Given the description of an element on the screen output the (x, y) to click on. 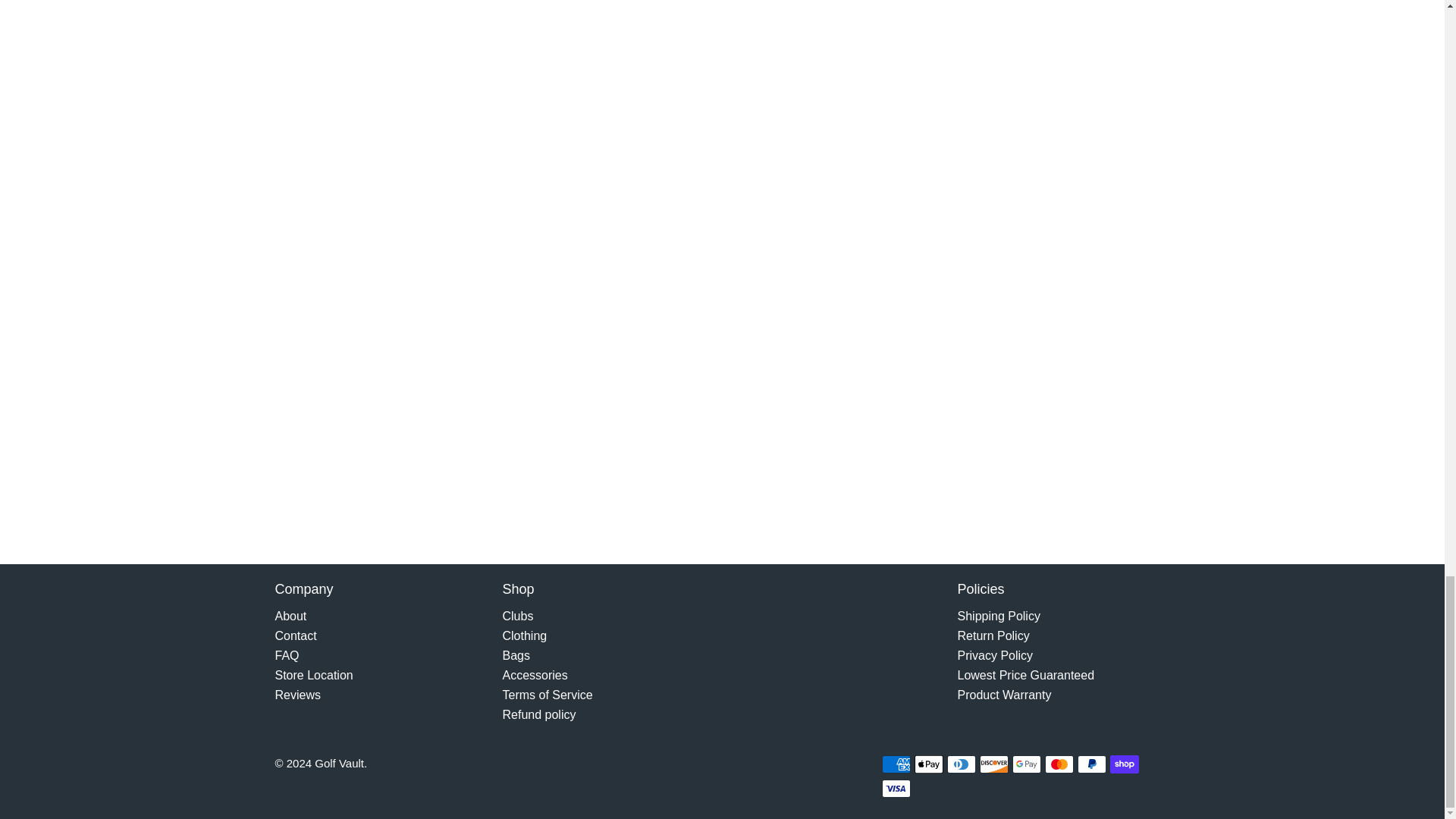
Google Pay (1026, 764)
Visa (895, 788)
PayPal (1091, 764)
Diners Club (961, 764)
Golf Vault (793, 601)
Discover (994, 764)
Shop Pay (1123, 764)
American Express (895, 764)
Apple Pay (928, 764)
Mastercard (1059, 764)
